Given the description of an element on the screen output the (x, y) to click on. 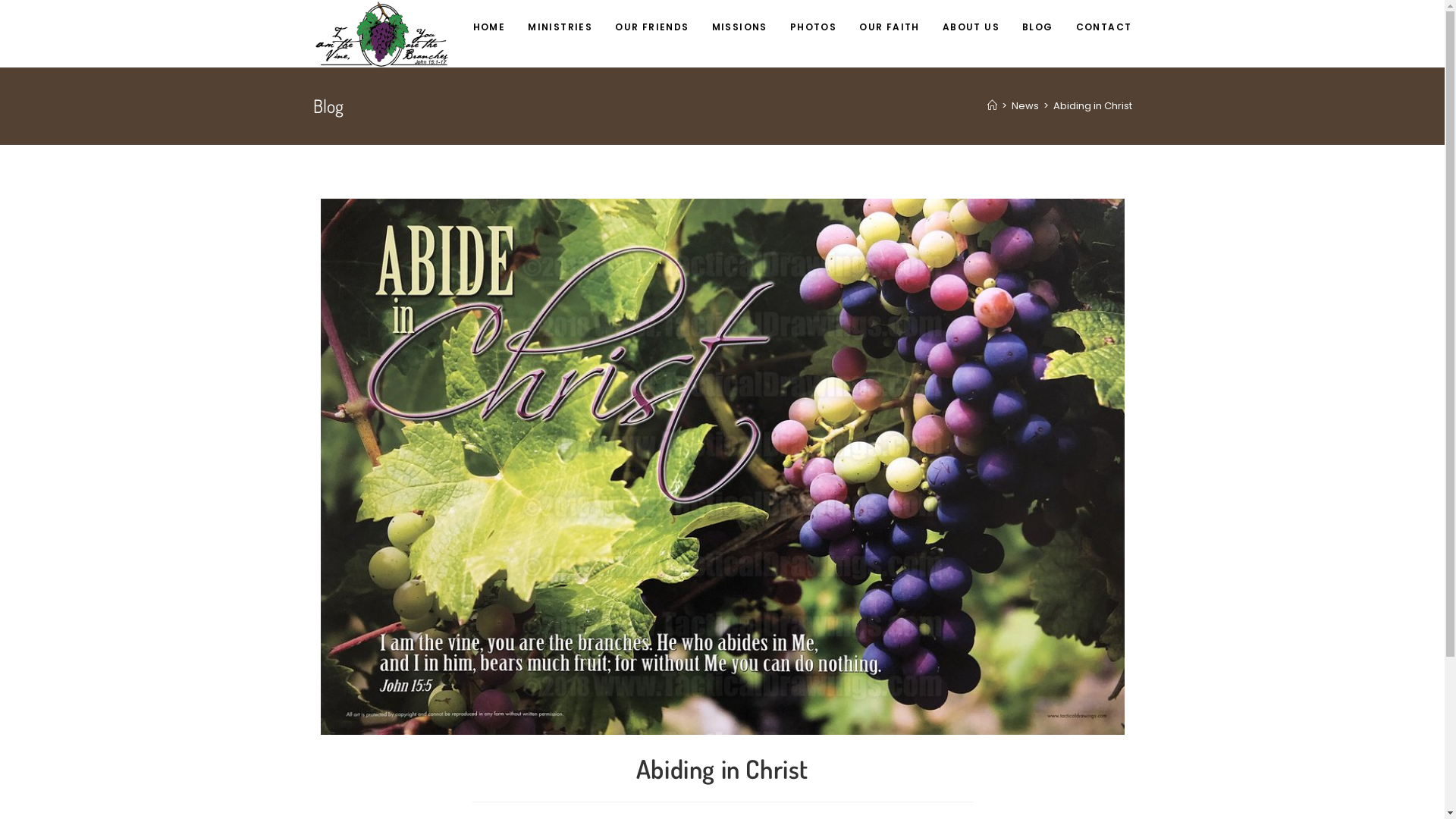
MISSIONS Element type: text (739, 27)
ABOUT US Element type: text (970, 27)
HOME Element type: text (489, 27)
Abiding in Christ Element type: text (1091, 105)
OUR FAITH Element type: text (889, 27)
MINISTRIES Element type: text (559, 27)
BLOG Element type: text (1037, 27)
News Element type: text (1024, 105)
CONTACT Element type: text (1103, 27)
OUR FRIENDS Element type: text (651, 27)
PHOTOS Element type: text (812, 27)
